Given the description of an element on the screen output the (x, y) to click on. 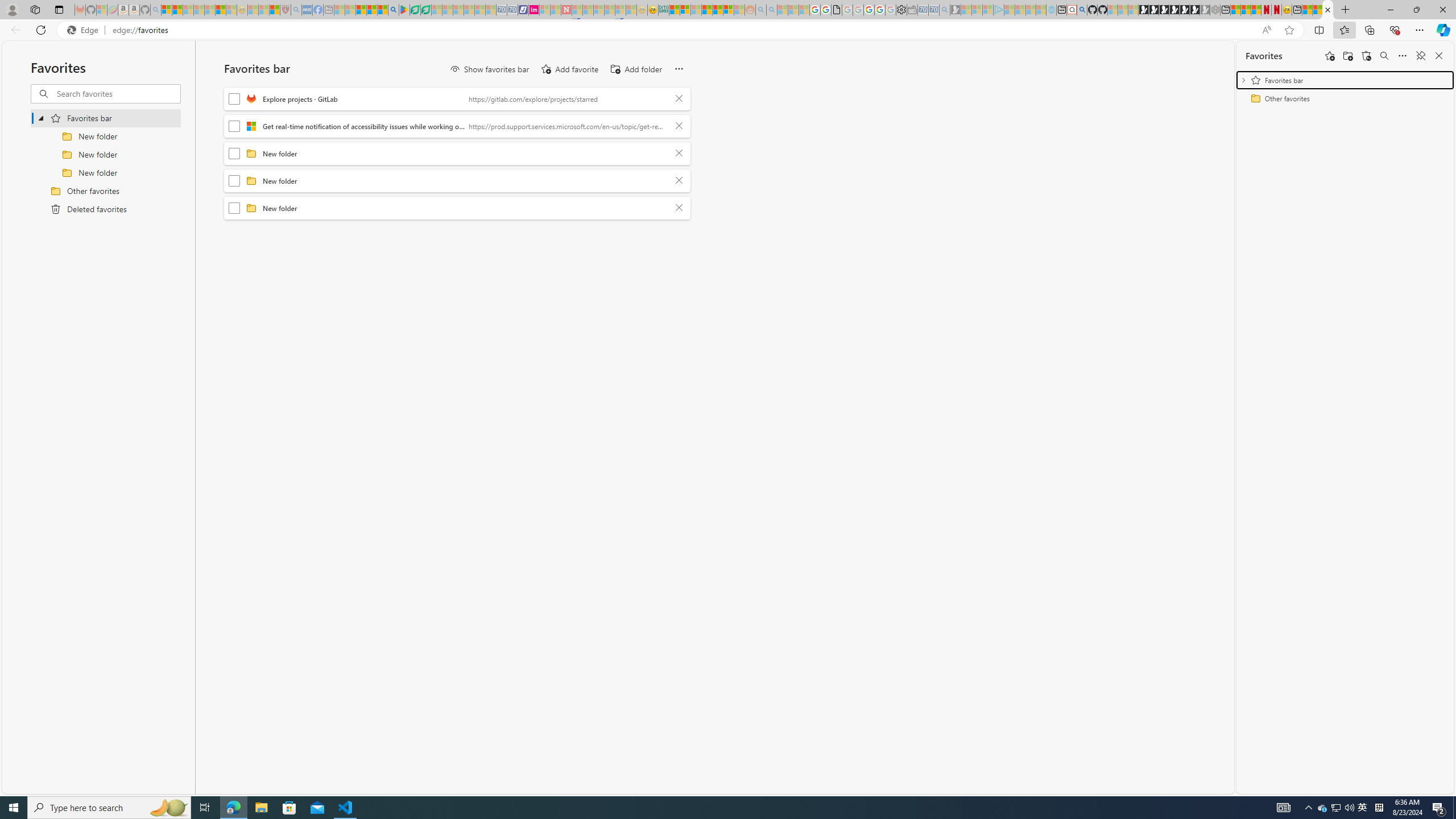
Add favorite (569, 69)
Bluey: Let's Play! - Apps on Google Play (404, 9)
